Given the description of an element on the screen output the (x, y) to click on. 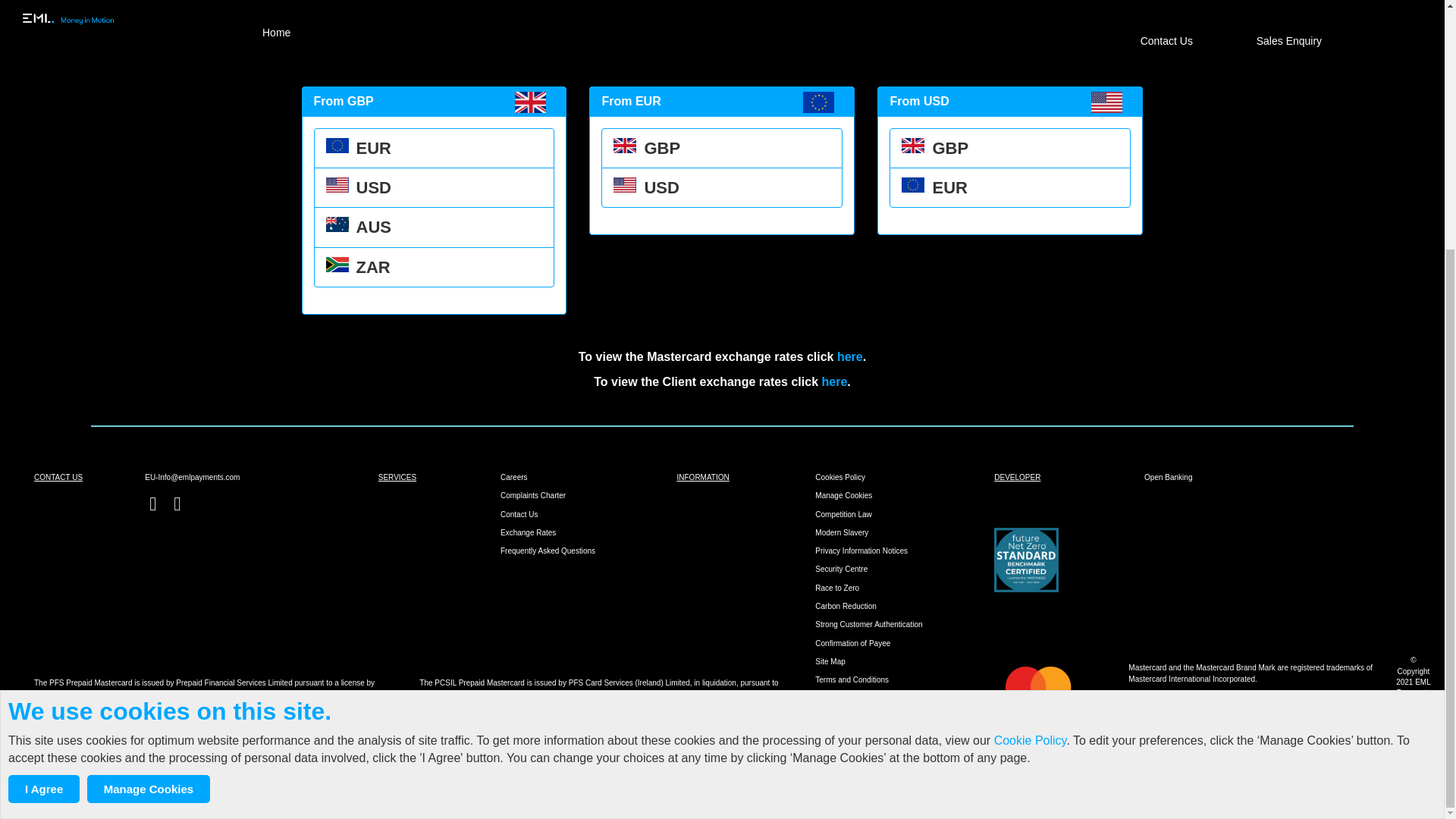
Strong Customer Authentication (868, 623)
Terms and Conditions (851, 679)
Cookie Policy (1030, 390)
Carbon Reduction (845, 605)
here (834, 381)
Confirmation of Payee (852, 643)
Privacy Information Notices (861, 551)
here (850, 356)
Security Centre (841, 569)
Exchange Rates (528, 532)
